Given the description of an element on the screen output the (x, y) to click on. 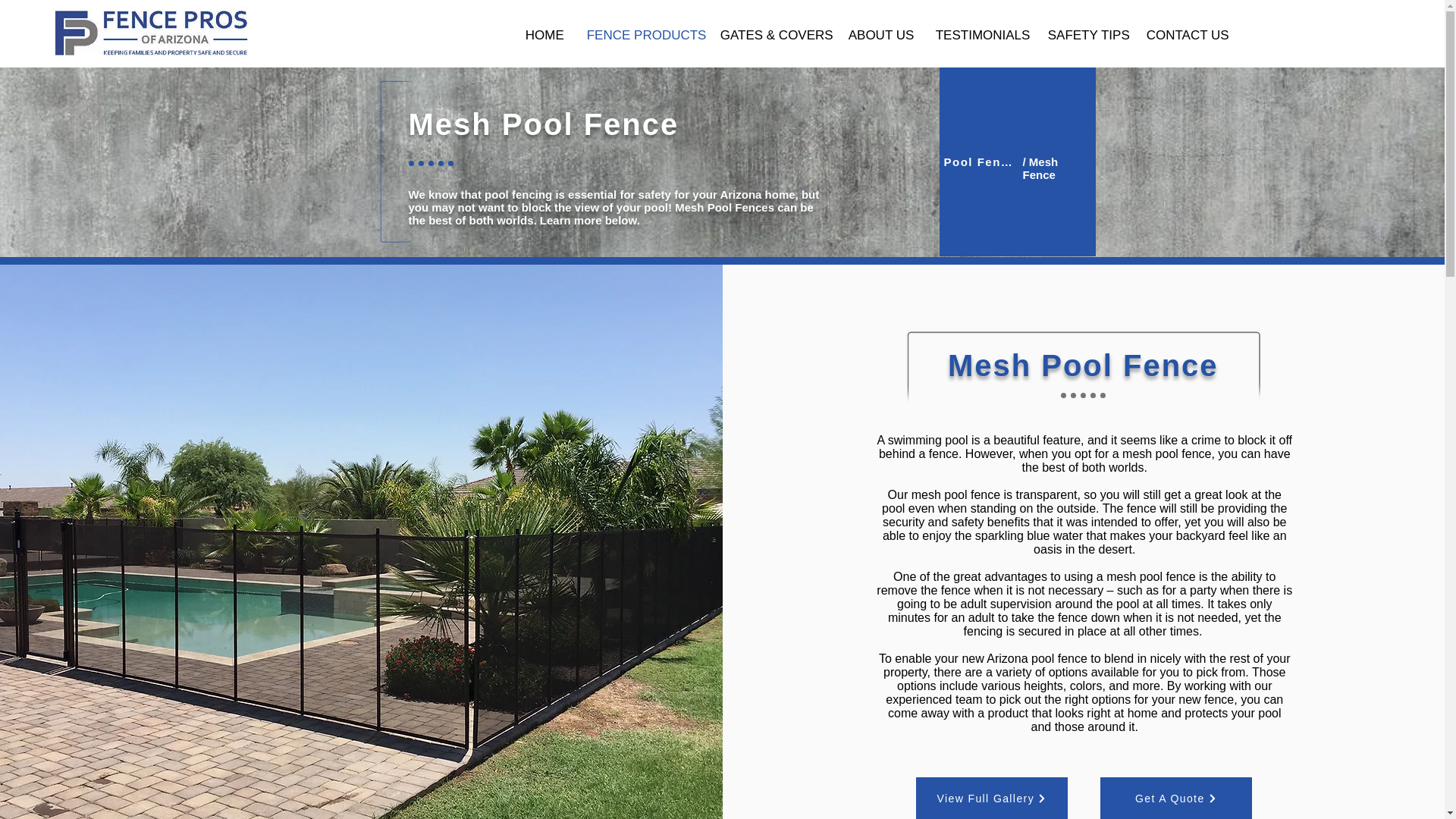
HOME (544, 33)
Pool Fences (982, 161)
SAFETY TIPS (1085, 33)
CONTACT US (1186, 33)
ABOUT US (880, 33)
View Full Gallery (991, 798)
Get A Quote (1176, 798)
TESTIMONIALS (980, 33)
FENCE PRODUCTS (642, 33)
